Given the description of an element on the screen output the (x, y) to click on. 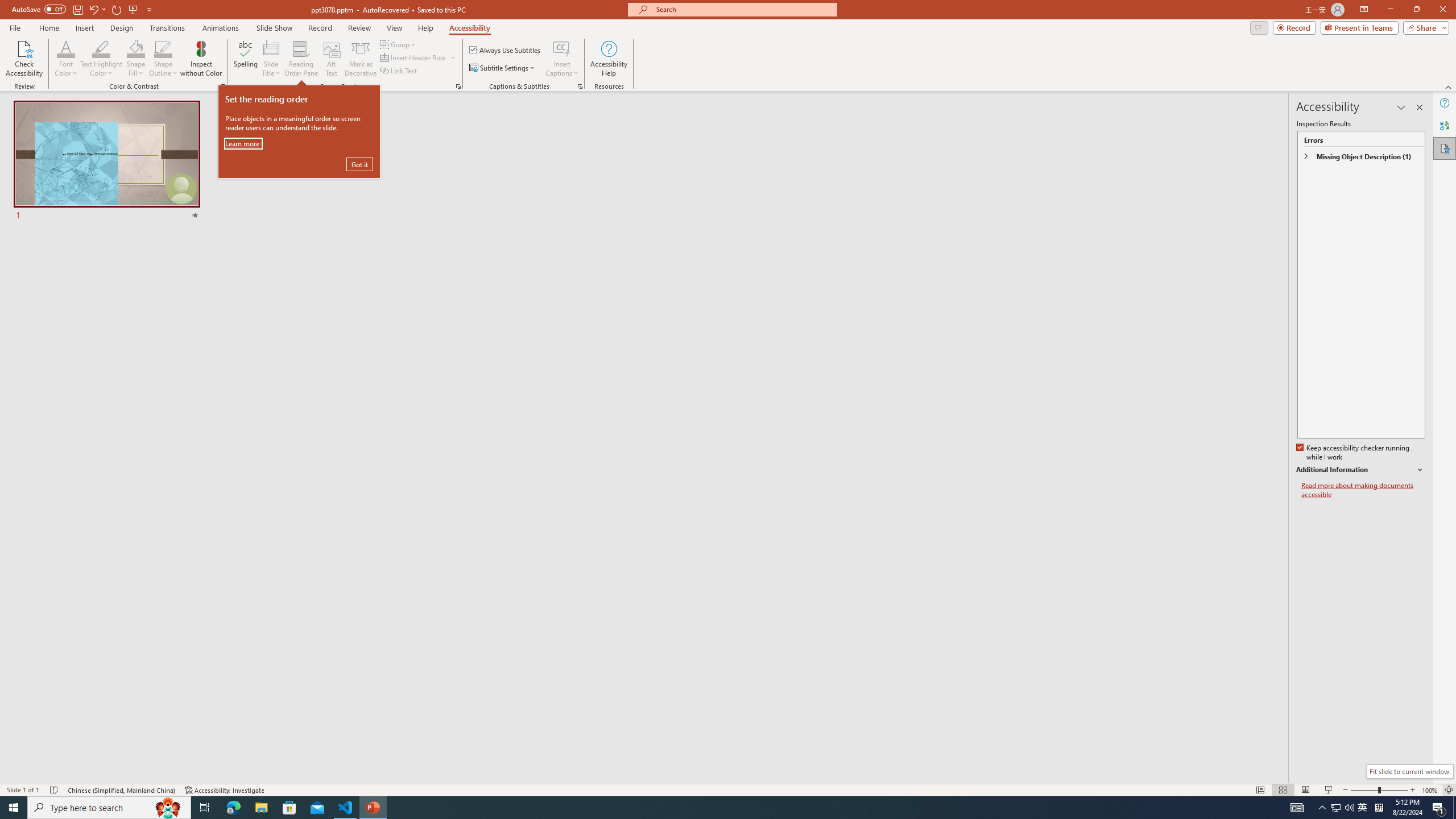
Spelling... (245, 58)
Captions & Subtitles (580, 85)
Read more about making documents accessible (1363, 489)
Running applications (707, 807)
